Given the description of an element on the screen output the (x, y) to click on. 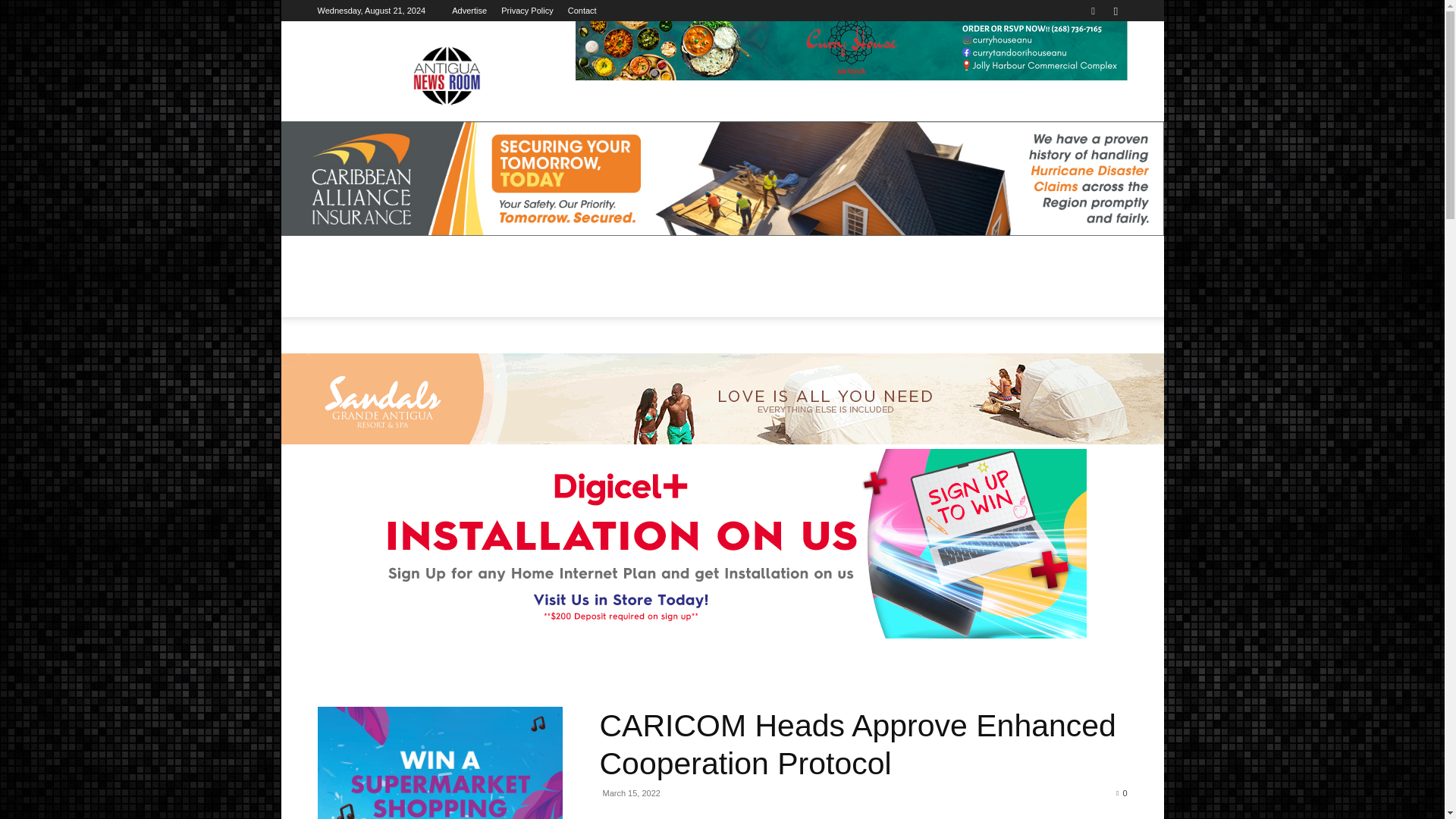
Contact (581, 10)
Search (1085, 64)
Privacy Policy (526, 10)
LOCAL NEWS (416, 286)
Instagram (1114, 10)
Advertise (468, 10)
